Given the description of an element on the screen output the (x, y) to click on. 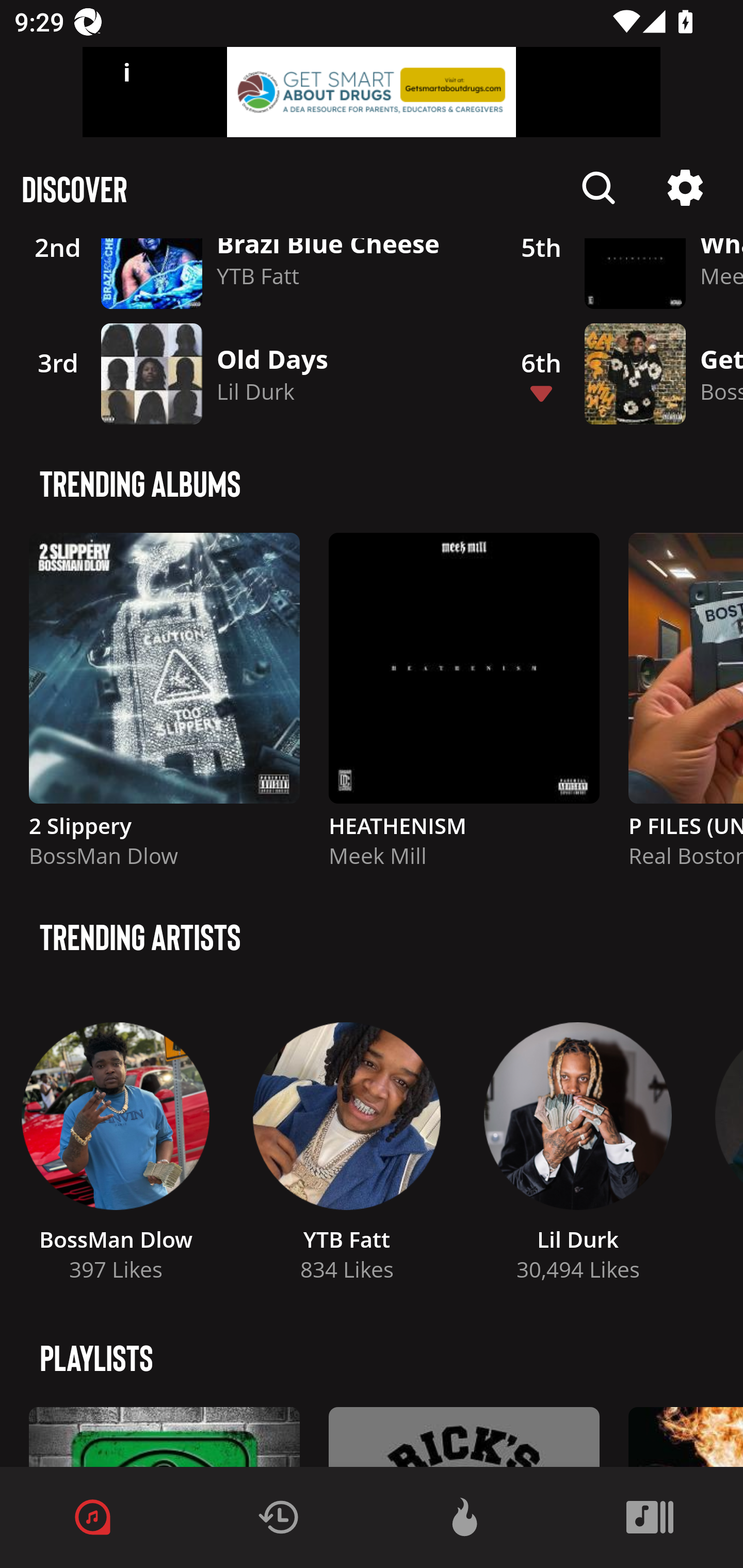
Description (598, 188)
Description (684, 188)
2nd Description Brazi Blue Cheese YTB Fatt (248, 277)
3rd Description Old Days Lil Durk (248, 373)
Description 2 Slippery BossMan Dlow (164, 708)
Description HEATHENISM Meek Mill (463, 708)
Description BossMan Dlow 397 Likes (115, 1146)
Description YTB Fatt 834 Likes (346, 1146)
Description Lil Durk 30,494 Likes (577, 1146)
